Given the description of an element on the screen output the (x, y) to click on. 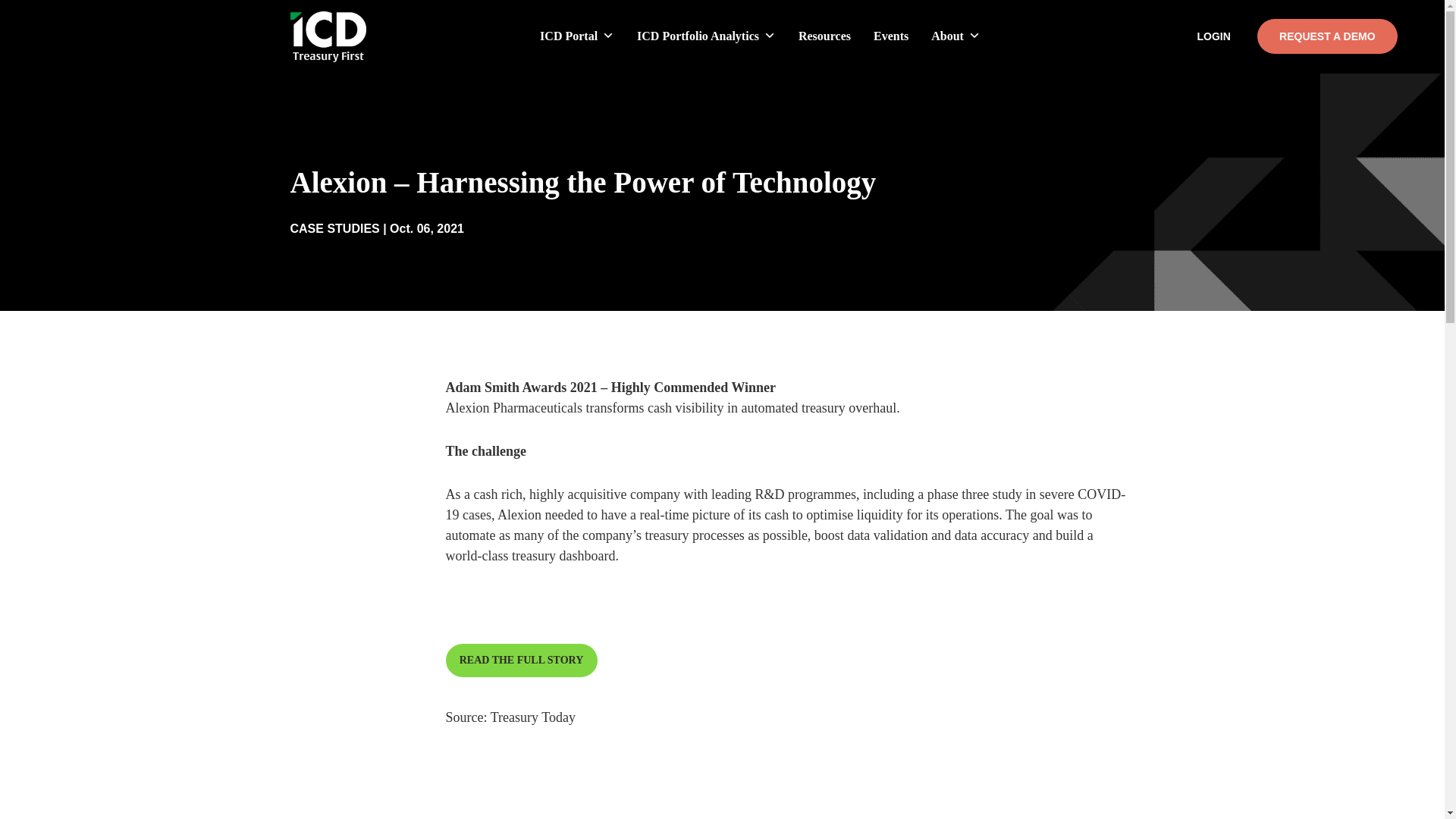
About (955, 36)
CASE STUDIES (333, 228)
LOGIN (1213, 36)
READ THE FULL STORY (520, 660)
Events (890, 36)
REQUEST A DEMO (1327, 36)
ICD Portfolio Analytics (706, 36)
Resources (823, 36)
ICD Portal (577, 36)
